Given the description of an element on the screen output the (x, y) to click on. 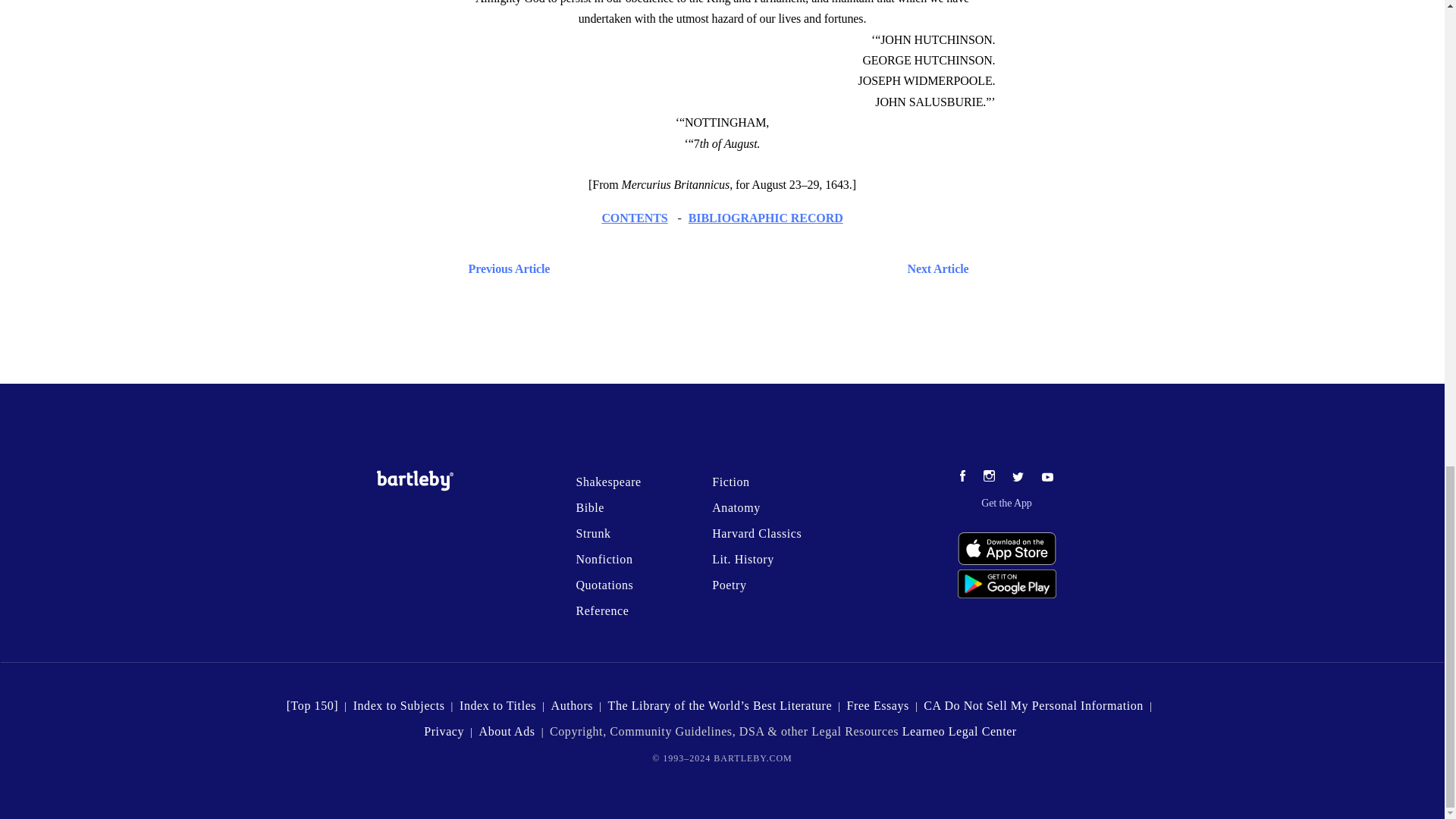
Previous Article (505, 268)
Lit. History (742, 558)
Anatomy (735, 507)
Fiction (730, 481)
CONTENTS (633, 217)
Next Article (766, 268)
Shakespeare (607, 481)
Quotations (604, 584)
Harvard Classics (756, 533)
Bible (589, 507)
Reference (601, 610)
BIBLIOGRAPHIC RECORD (765, 217)
Poetry (728, 584)
Nonfiction (603, 558)
Strunk (592, 533)
